Given the description of an element on the screen output the (x, y) to click on. 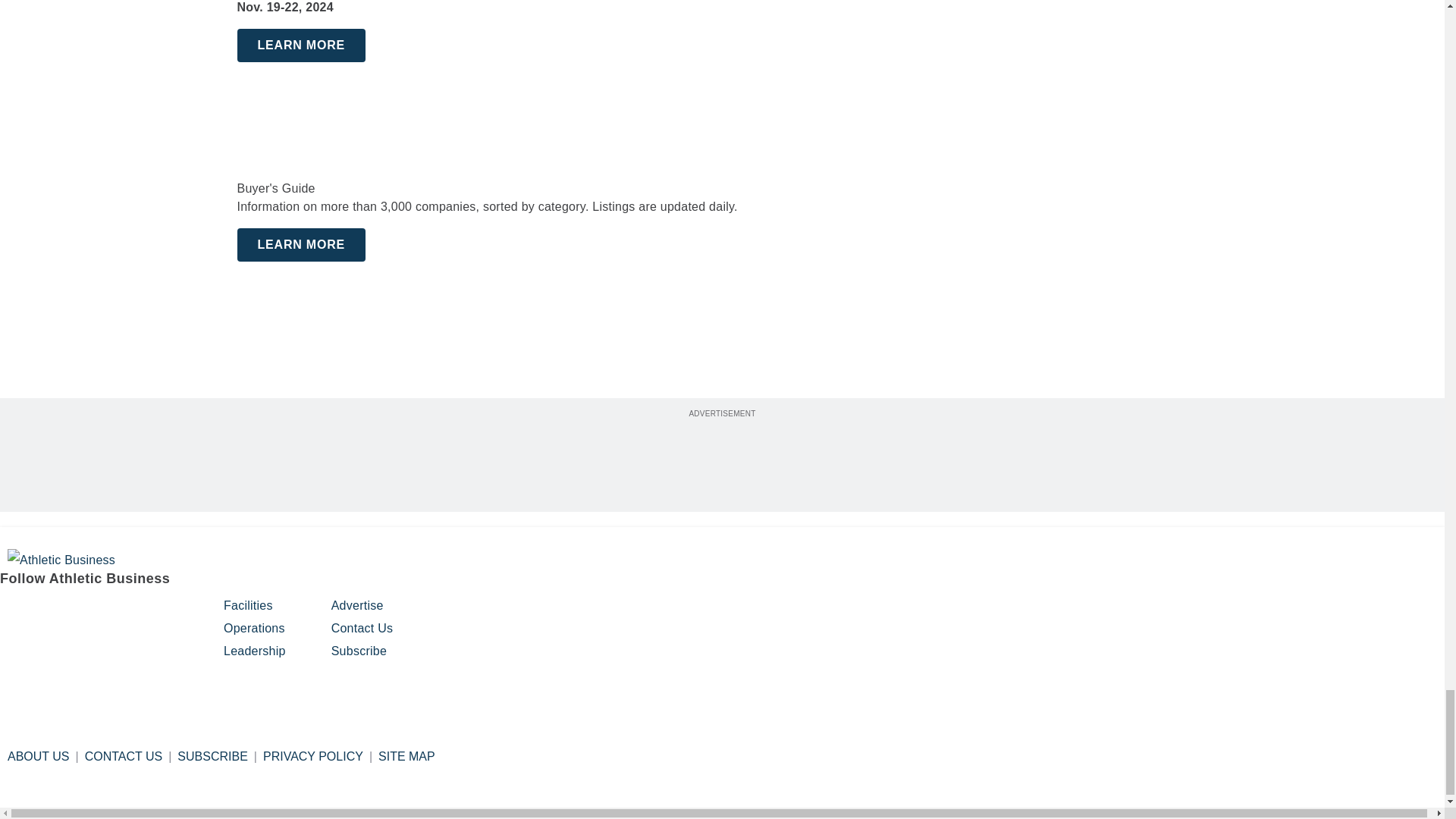
Facebook icon (13, 611)
LinkedIn icon (90, 611)
YouTube icon (129, 611)
Instagram icon (52, 611)
Twitter X icon (168, 611)
